Given the description of an element on the screen output the (x, y) to click on. 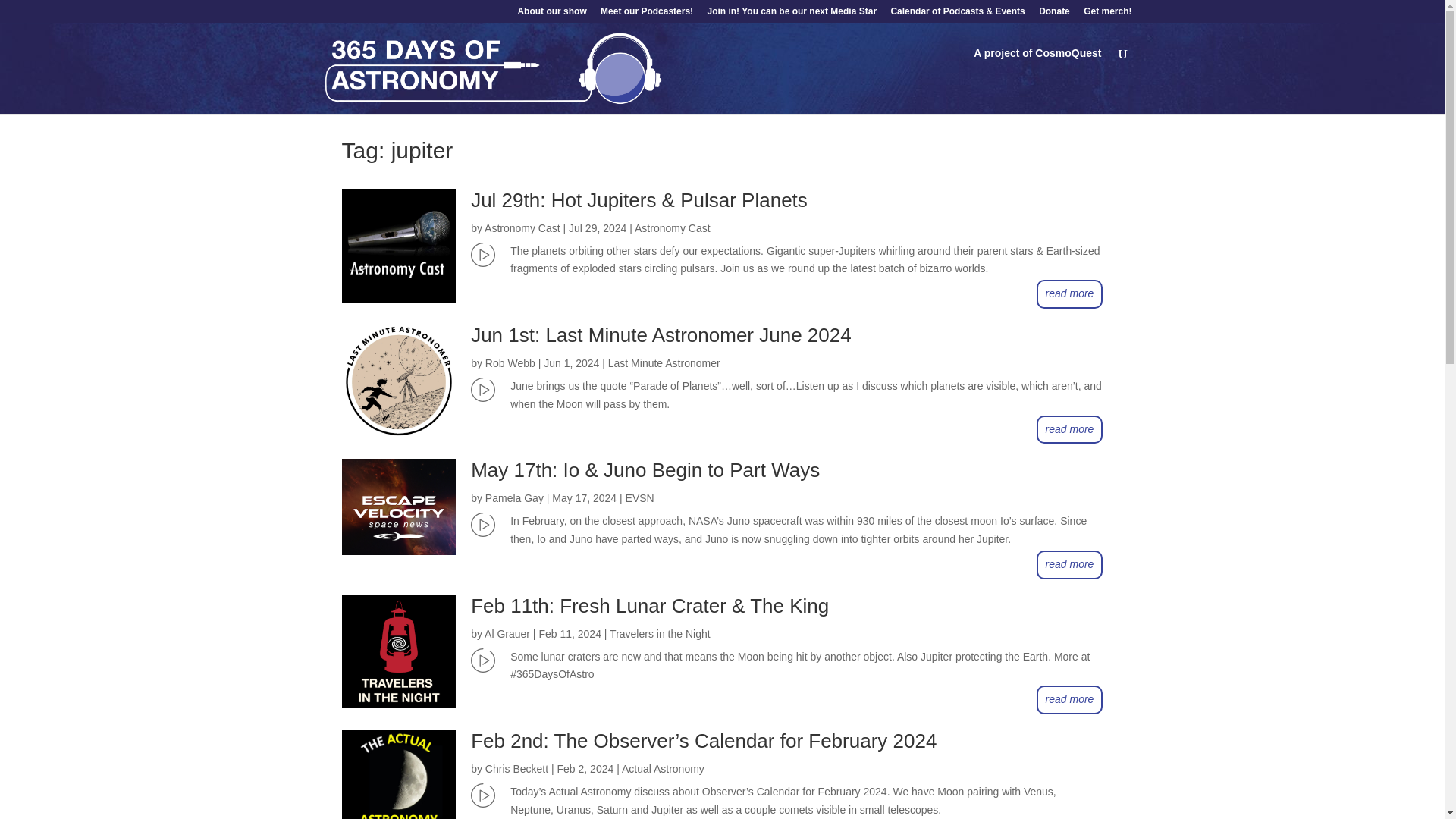
Travelers in the Night (660, 633)
Join in! You can be our next Media Star (791, 14)
EVSN (639, 498)
Get merch! (1107, 14)
Posts by Pamela Gay (513, 498)
Play (482, 794)
Posts by Astronomy Cast (522, 227)
A project of CosmoQuest (1037, 65)
About our show (551, 14)
Last Minute Astronomer (664, 363)
Astronomy Cast (672, 227)
Pamela Gay (513, 498)
Posts by Rob Webb (509, 363)
Posts by Chris Beckett (516, 768)
Jun 1st: Last Minute Astronomer June 2024 (660, 334)
